Given the description of an element on the screen output the (x, y) to click on. 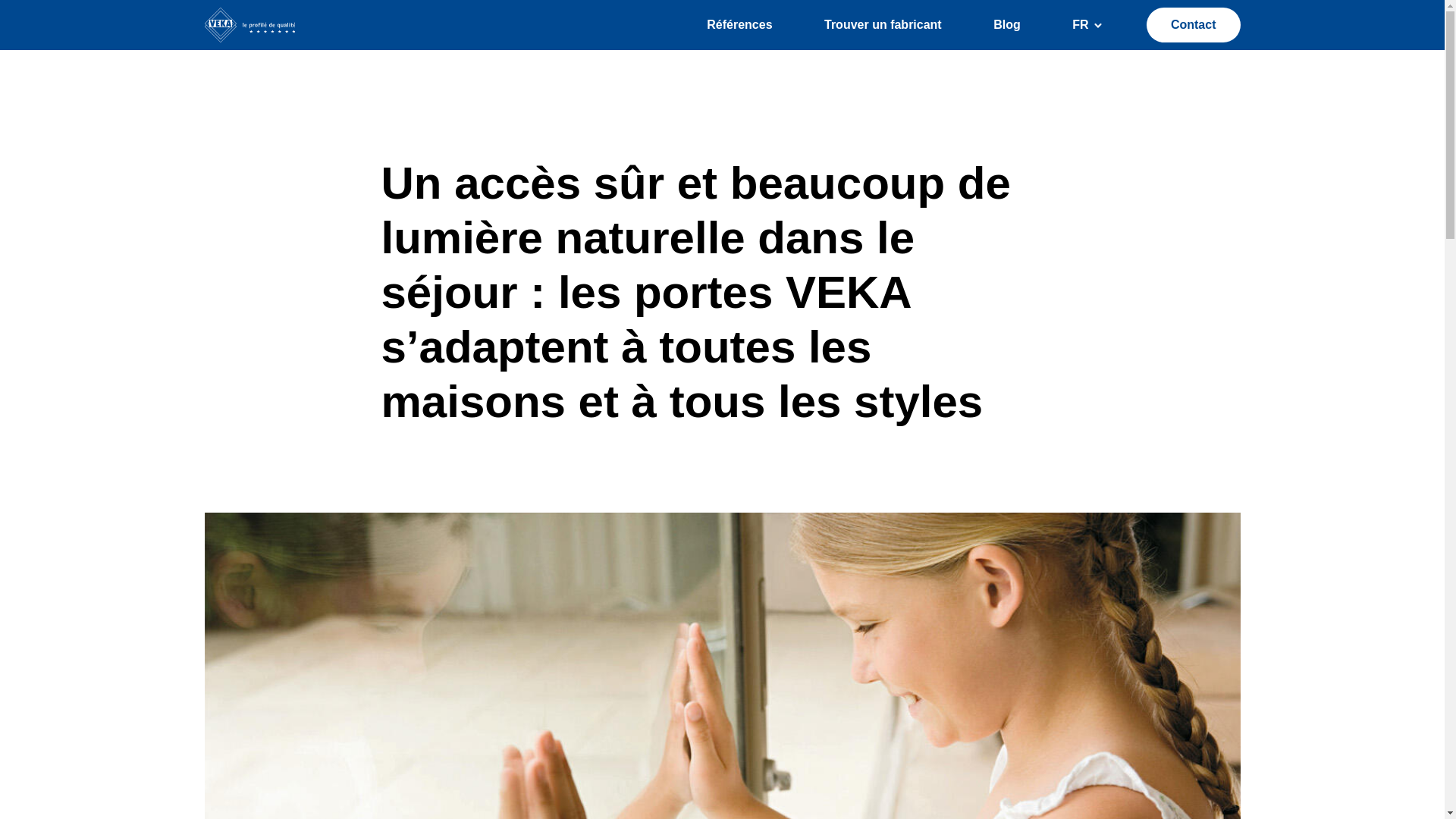
Contact Element type: text (1193, 24)
Trouver un fabricant Element type: text (883, 24)
FR Element type: text (1080, 24)
Blog Element type: text (1006, 24)
